Given the description of an element on the screen output the (x, y) to click on. 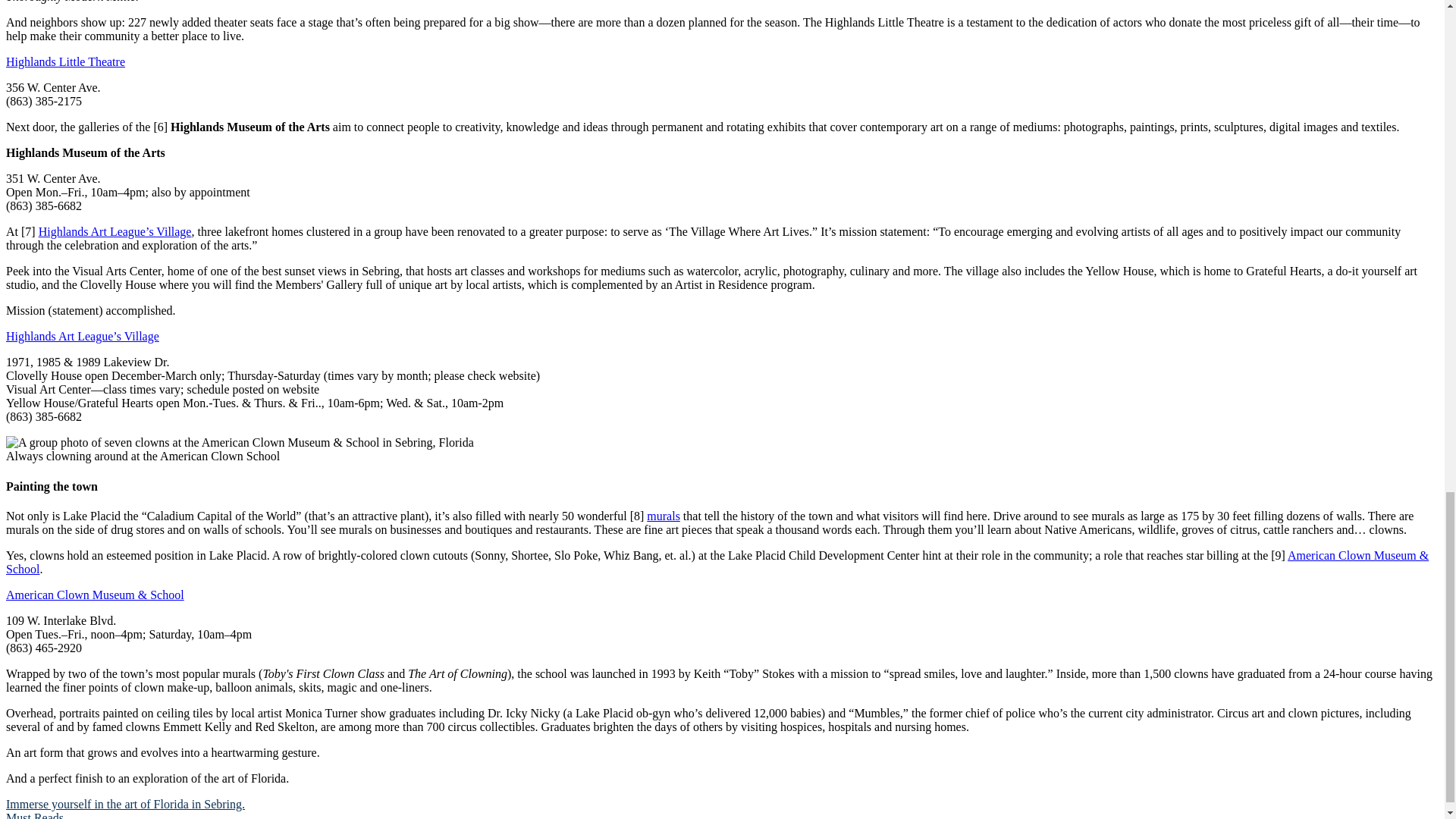
Immerse yourself in the art of Florida in Sebring. (124, 803)
Highlands Little Theatre (65, 61)
murals (662, 515)
